Given the description of an element on the screen output the (x, y) to click on. 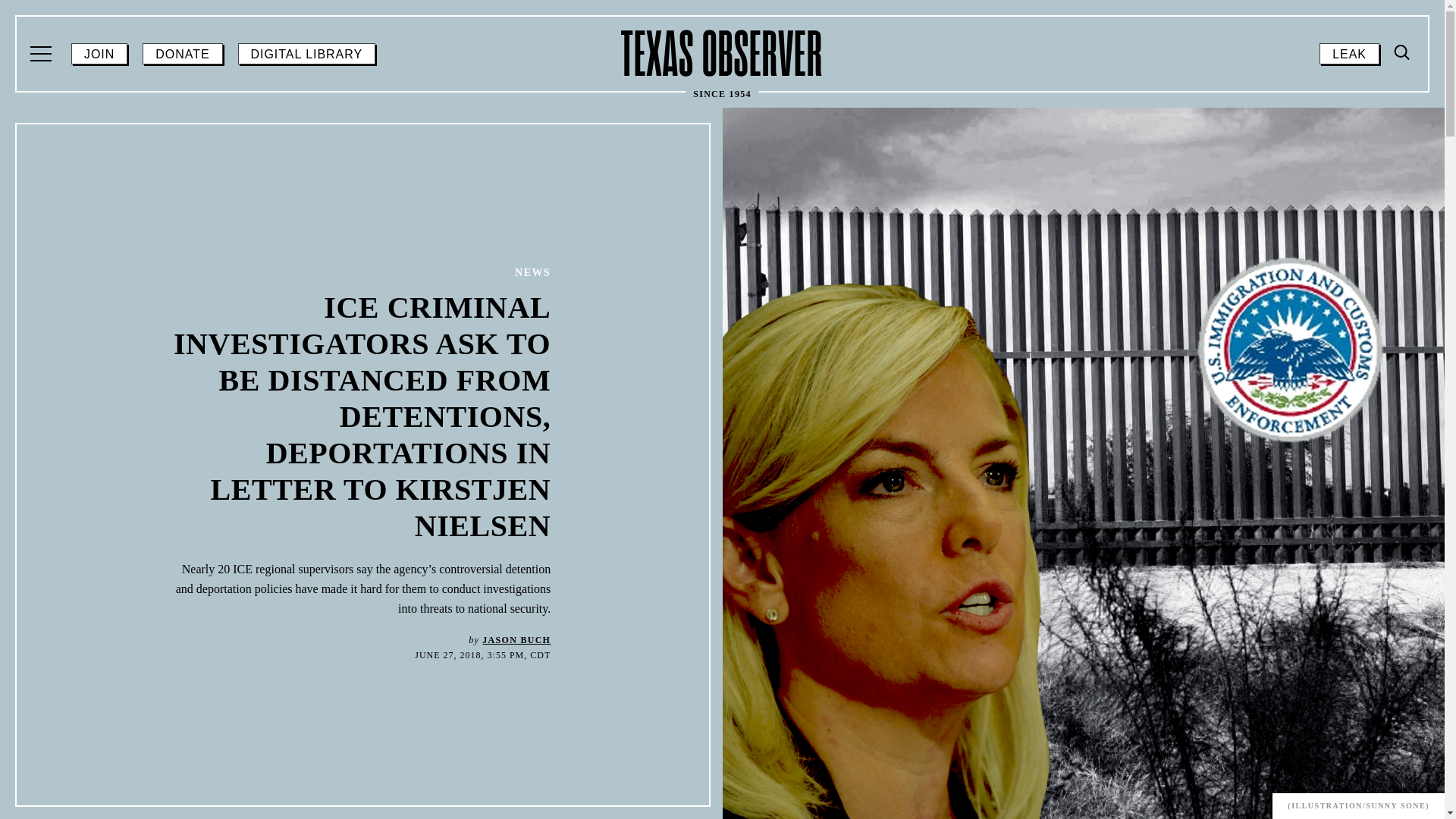
Search icon (1402, 51)
SEARCH (1400, 179)
JOIN (99, 53)
The Texas Observer (721, 53)
Posts by Jason Buch (515, 639)
LEAK (1348, 53)
DIGITAL LIBRARY (306, 53)
DONATE (182, 53)
Toggle Menu (1402, 53)
